Given the description of an element on the screen output the (x, y) to click on. 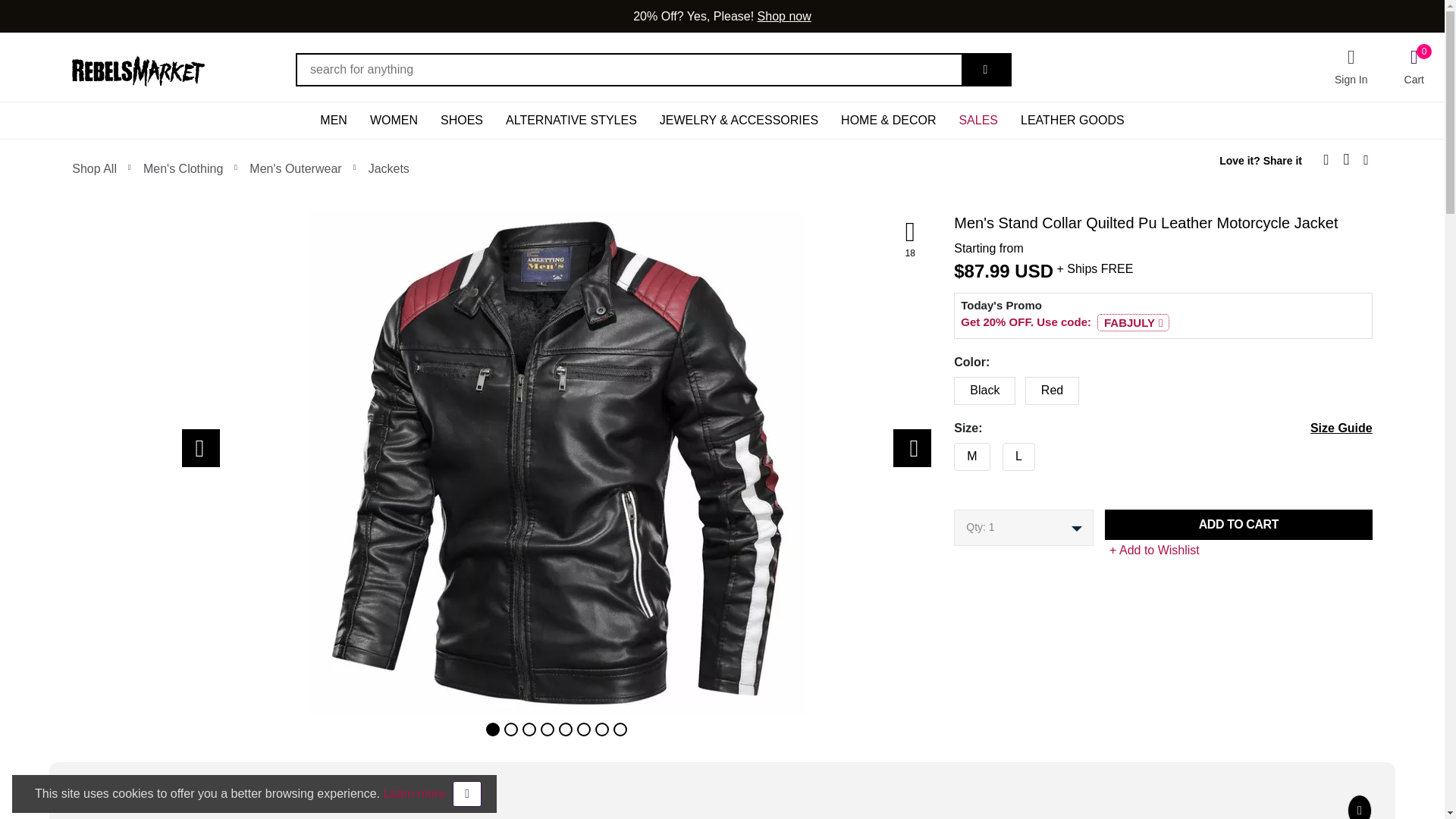
87.99 (986, 271)
M (949, 453)
Sign In (1351, 66)
Red (949, 386)
L (949, 453)
USD (1033, 271)
Black (949, 386)
MEN (333, 119)
WOMEN (393, 119)
